Given the description of an element on the screen output the (x, y) to click on. 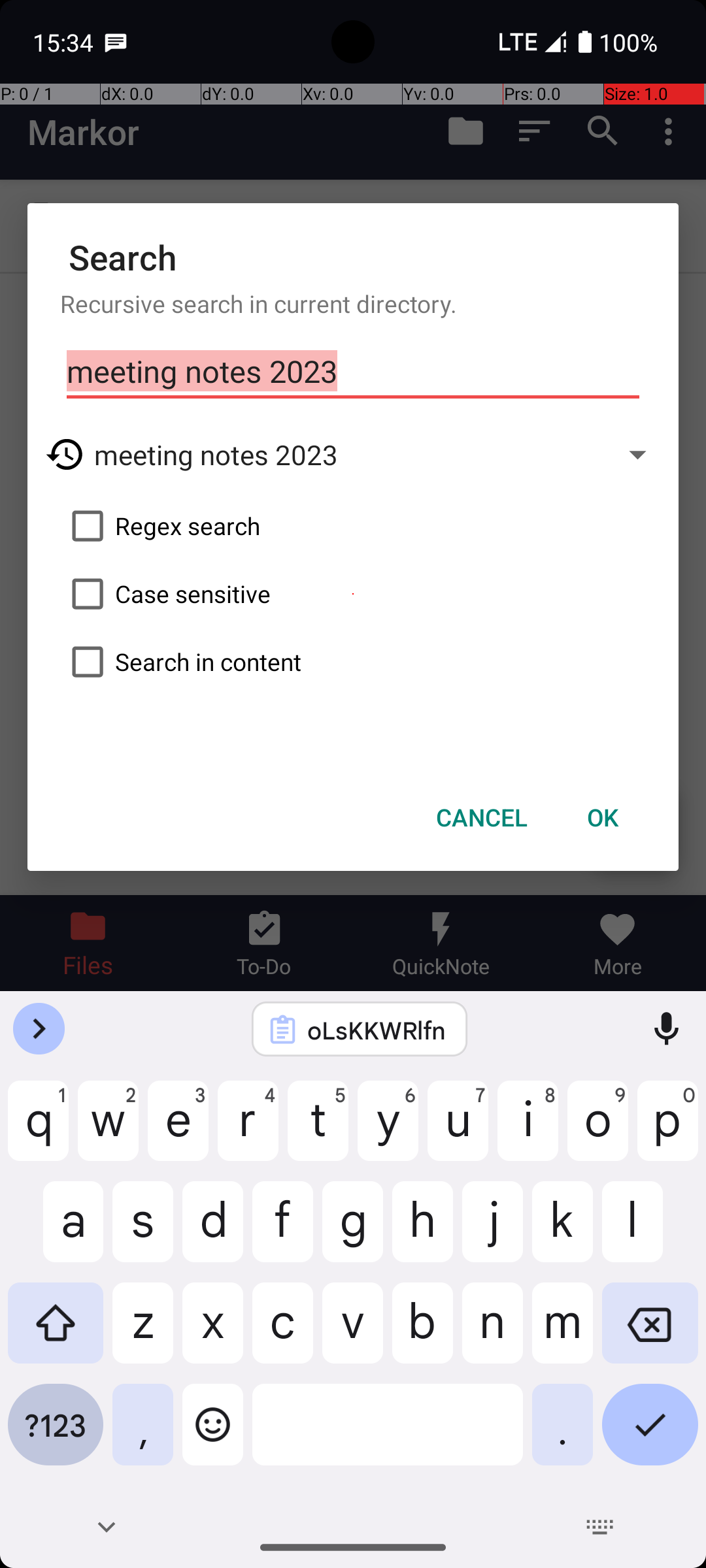
meeting notes 2023 Element type: android.widget.EditText (352, 371)
oLsKKWRlfn Element type: android.widget.TextView (376, 1029)
